Given the description of an element on the screen output the (x, y) to click on. 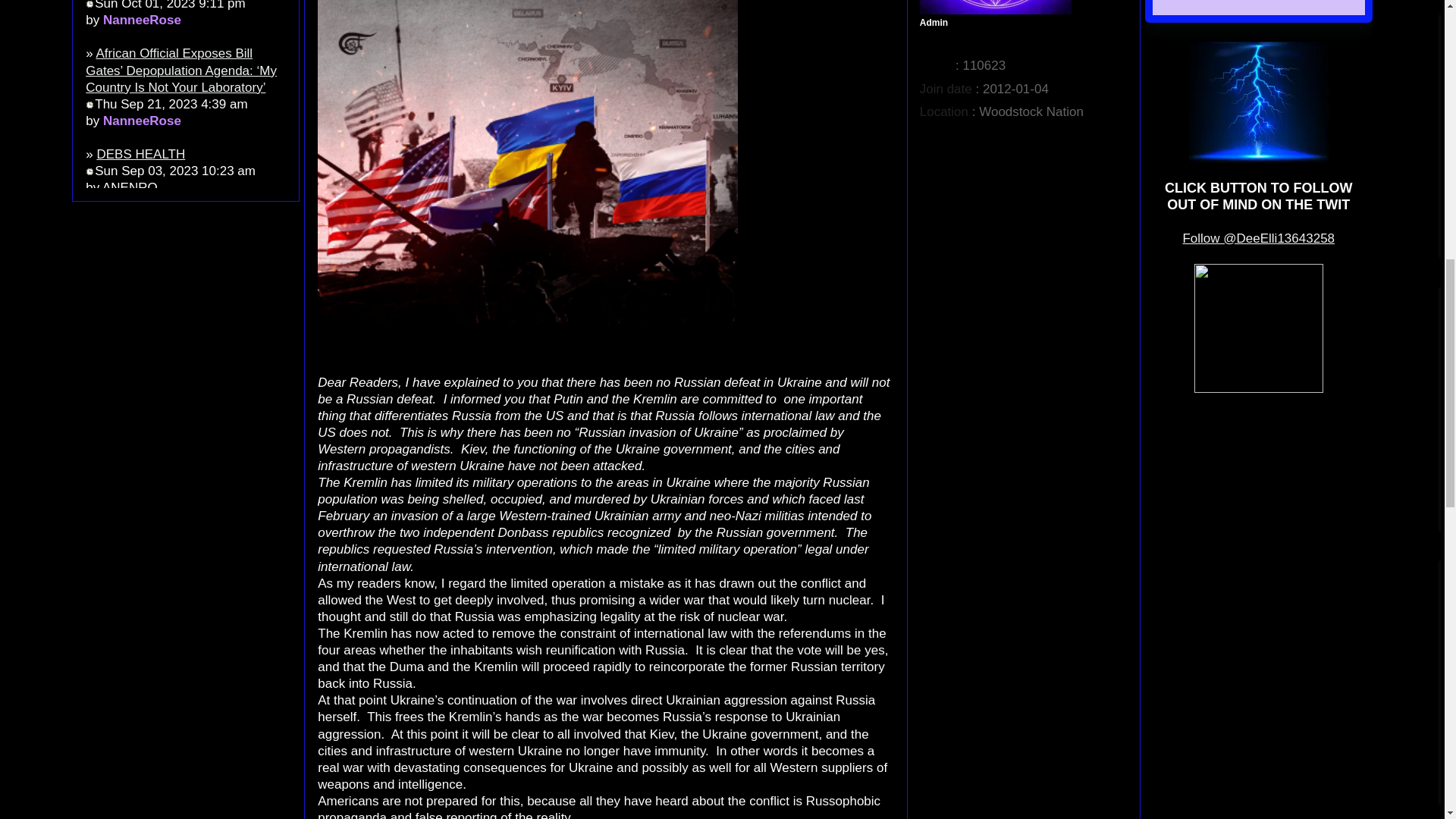
DEBS HEALTH (140, 154)
DEBS HEALTH (140, 154)
